Given the description of an element on the screen output the (x, y) to click on. 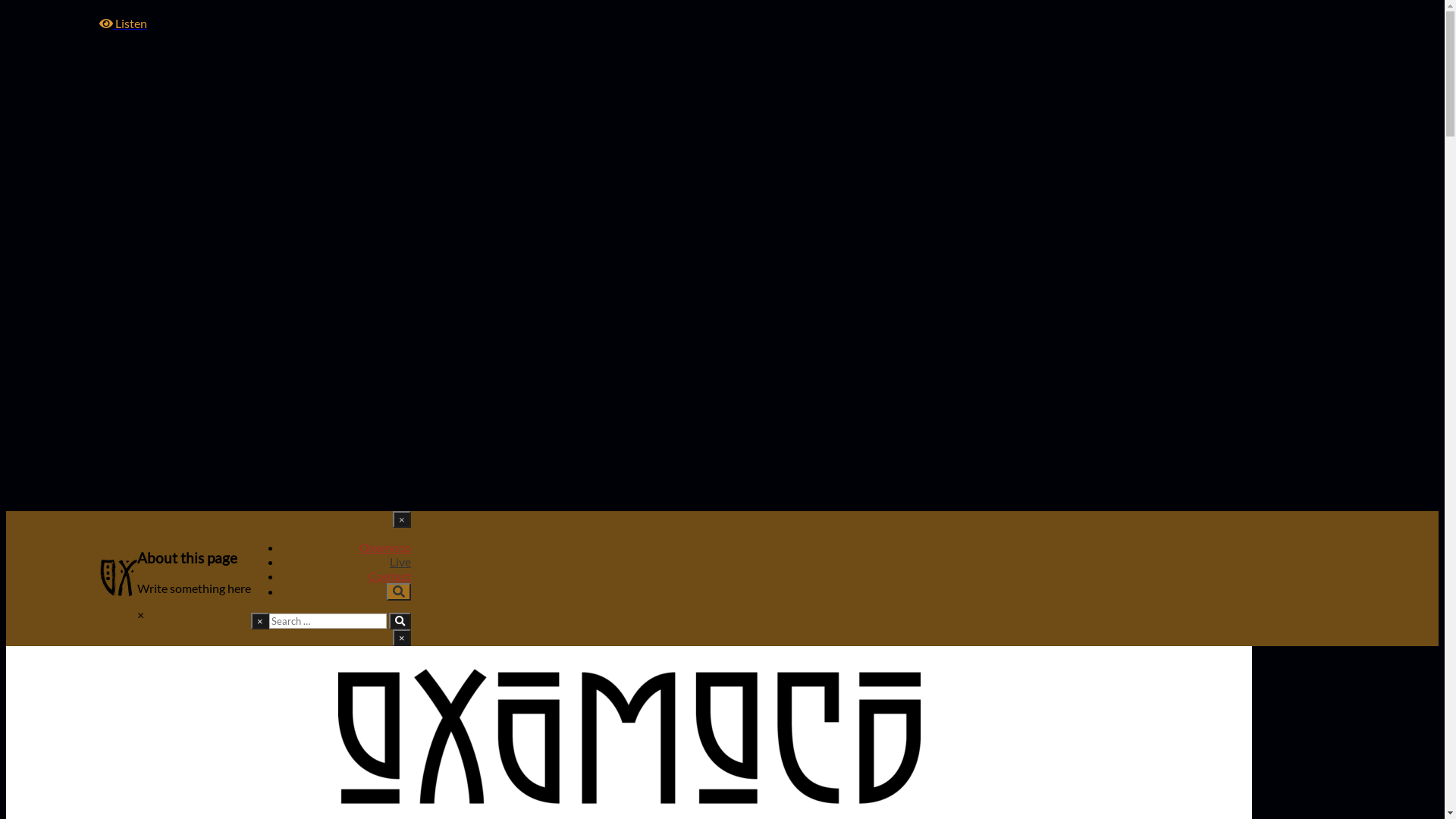
Live Element type: text (400, 561)
Contact Element type: text (389, 575)
Listen Element type: text (123, 22)
Oxomoco Element type: text (385, 546)
